Given the description of an element on the screen output the (x, y) to click on. 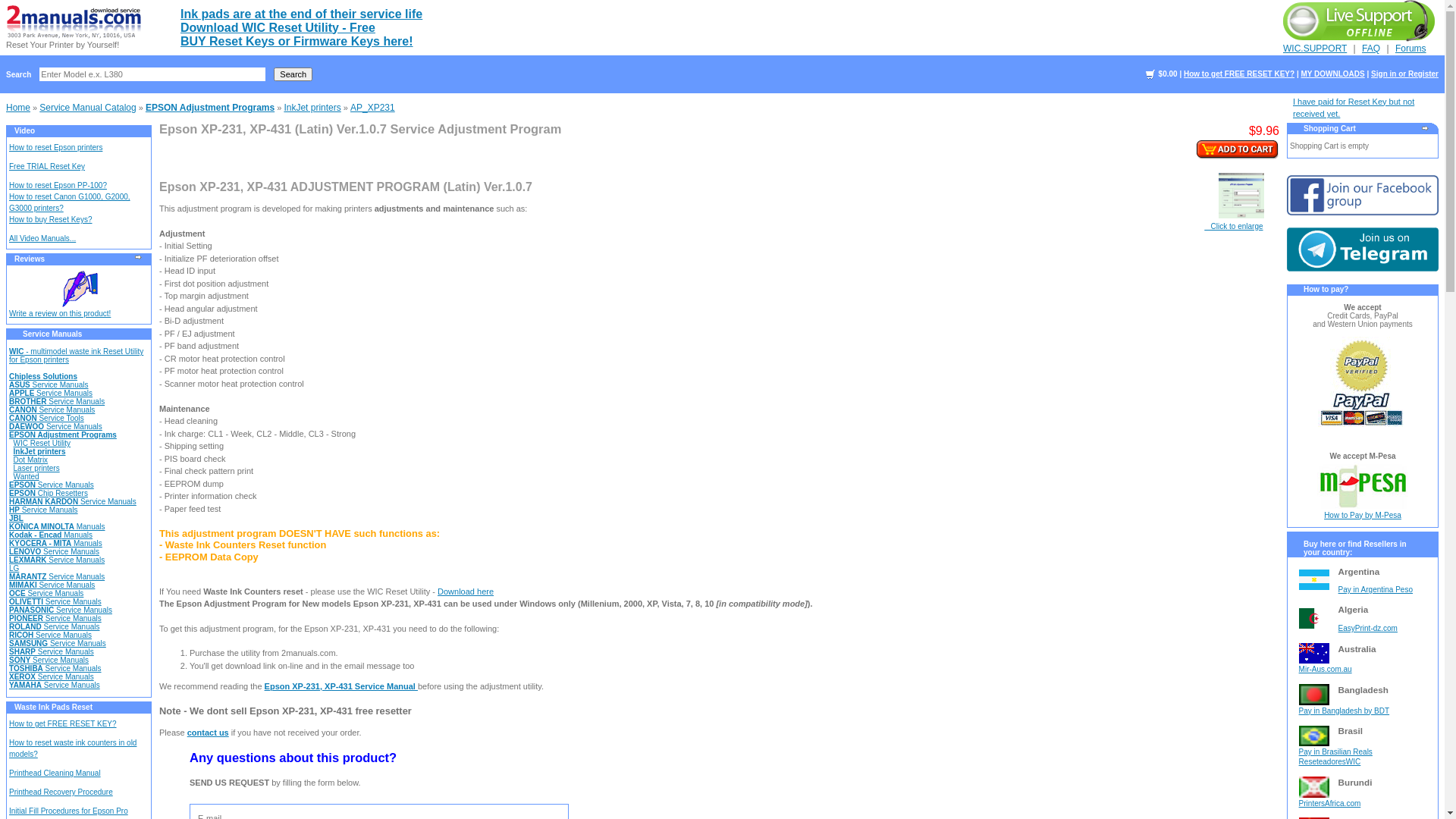
Buy here or find Resellers in your country: Element type: text (1362, 543)
How to reset waste ink counters in old models? Element type: text (72, 748)
Reviews Element type: text (78, 258)
SHARP Service Manuals Element type: text (51, 651)
BROTHER Service Manuals Element type: text (56, 401)
MIMAKI Service Manuals Element type: text (51, 584)
WIC Reset Utility Element type: text (42, 443)
EPSON Adjustment Programs Element type: text (209, 107)
How to reset Canon G1000, G2000, G3000 printers? Element type: text (69, 202)
How to Pay by M-Pesa Element type: text (1362, 499)
Waste Ink Pads Reset Element type: text (78, 706)
DAEWOO Service Manuals Element type: text (55, 426)
Chipless Solutions Element type: text (43, 376)
How to reset Epson PP-100? Element type: text (57, 185)
EPSON Service Manuals Element type: text (51, 484)
XEROX Service Manuals Element type: text (51, 676)
LEXMARK Service Manuals Element type: text (56, 559)
OLIVETTI Service Manuals Element type: text (55, 601)
Download WIC Reset Utility - Free Element type: text (277, 27)
YAMAHA Service Manuals Element type: text (54, 684)
FAQ Element type: text (1370, 48)
WIC.SUPPORT Element type: text (1314, 48)
OCE Service Manuals Element type: text (46, 593)
ROLAND Service Manuals Element type: text (54, 626)
Burundi Element type: hover (1314, 785)
RICOH Service Manuals Element type: text (50, 634)
EPSON Chip Resetters Element type: text (48, 493)
Reset Your Printer by Yourself! Element type: text (74, 32)
How to get FREE RESET KEY? Element type: text (1238, 74)
 Write Review  Element type: hover (78, 288)
InkJet printers Element type: text (39, 451)
Printhead Recovery Procedure Element type: text (60, 791)
How to get FREE RESET KEY? Element type: text (62, 723)
Kodak - Encad Manuals Element type: text (50, 534)
$0.00 Element type: text (1160, 74)
WIC - multimodel waste ink Reset Utility for Epson printers Element type: text (76, 355)
Pay in Bangladesh by BDT Element type: text (1344, 710)
Mir-Aus.com.au Element type: text (1325, 669)
SONY Service Manuals Element type: text (48, 659)
   Click to enlarge Element type: text (1235, 210)
Epson XP-231, XP-431 Service Manual Element type: text (340, 685)
Pay in Brasilian Reals Element type: text (1335, 751)
InkJet printers Element type: text (311, 107)
Pay in Argentina Peso Element type: text (1375, 589)
SAMSUNG Service Manuals Element type: text (57, 643)
Laser printers Element type: text (36, 468)
I have paid for Reset Key but not received yet. Element type: text (1353, 108)
 more  Element type: hover (138, 256)
How to buy Reset Keys? Element type: text (50, 219)
Australia Element type: hover (1314, 652)
Sign in or Register Element type: text (1404, 74)
LG Element type: text (13, 568)
HP Service Manuals Element type: text (43, 509)
Service Manual Catalog Element type: text (87, 107)
Service Manuals Element type: text (78, 333)
ASUS Service Manuals Element type: text (48, 384)
Video Element type: text (78, 130)
Free TRIAL Reset Key Element type: text (46, 166)
KONICA MINOLTA Manuals Element type: text (57, 526)
How to pay? Element type: text (1362, 289)
AP_XP231 Element type: text (372, 107)
EasyPrint-dz.com Element type: text (1367, 628)
KYOCERA - MITA Manuals Element type: text (55, 543)
CANON Service Tools Element type: text (46, 418)
Printhead Cleaning Manual Element type: text (54, 772)
BUY Reset Keys or Firmware Keys here! Element type: text (296, 40)
All Video Manuals... Element type: text (42, 238)
Ink pads are at the end of their service life Element type: text (301, 13)
Search Element type: text (292, 74)
APPLE Service Manuals Element type: text (50, 393)
EPSON Adjustment Programs Element type: text (62, 434)
Write a review on this product! Element type: text (59, 313)
Dot Matrix Element type: text (30, 459)
PrintersAfrica.com Element type: text (1330, 803)
Home Element type: text (18, 107)
contact us Element type: text (208, 732)
MARANTZ Service Manuals Element type: text (56, 576)
Bangladesh Element type: hover (1314, 693)
Wanted Element type: text (26, 476)
 more  Element type: hover (1425, 127)
HARMAN KARDON Service Manuals Element type: text (72, 501)
PANASONIC Service Manuals Element type: text (60, 609)
MY DOWNLOADS Element type: text (1332, 74)
CANON Service Manuals Element type: text (51, 409)
How to reset Epson printers Element type: text (55, 147)
ReseteadoresWIC Element type: text (1330, 761)
LENOVO Service Manuals Element type: text (54, 551)
PIONEER Service Manuals Element type: text (55, 618)
Forums Element type: text (1410, 48)
TOSHIBA Service Manuals Element type: text (55, 668)
JBL Element type: text (16, 518)
Download here Element type: text (465, 591)
 Add to Cart  Element type: hover (1237, 150)
Shopping Cart Element type: text (1358, 127)
